Given the description of an element on the screen output the (x, y) to click on. 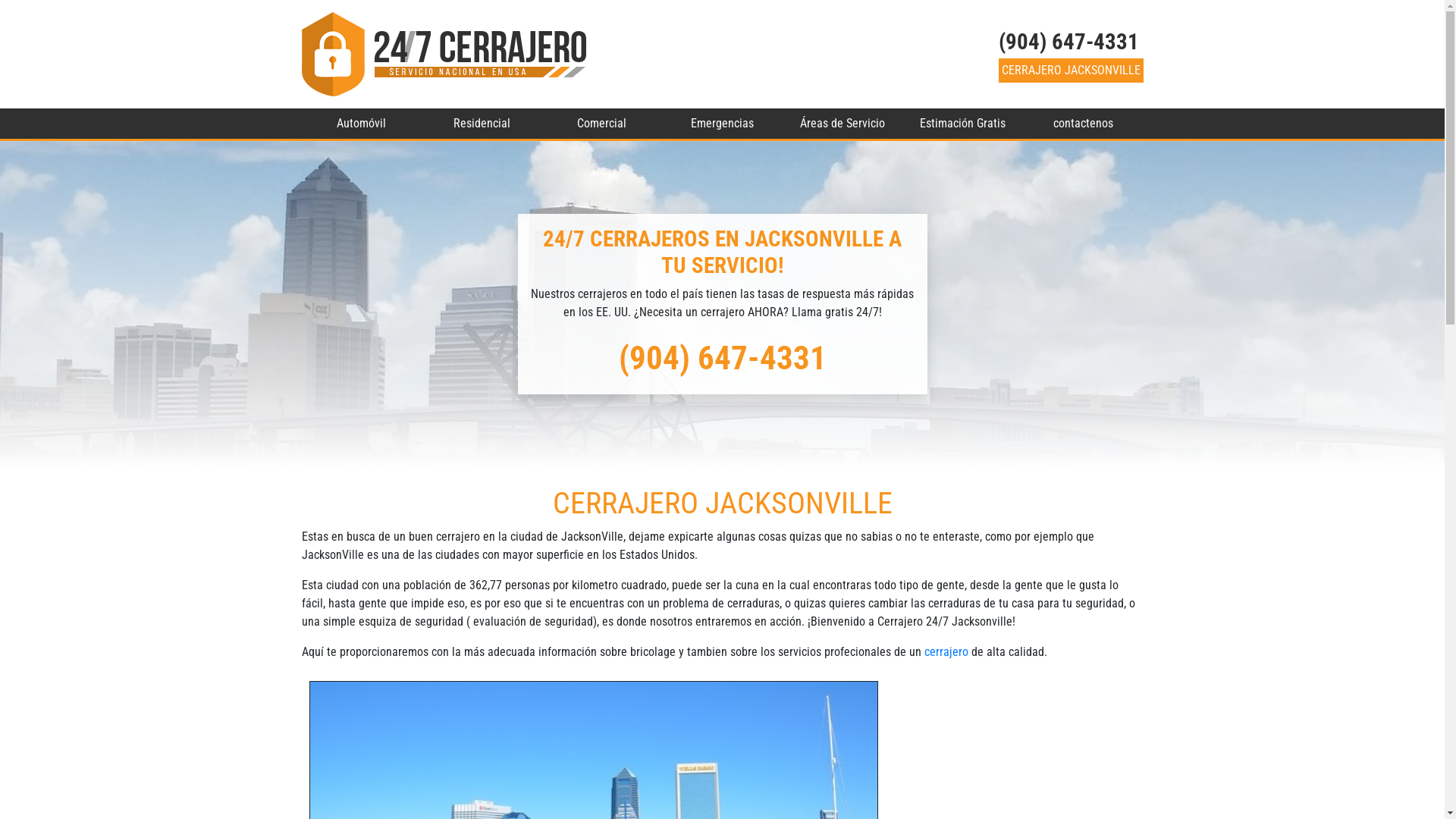
Residencial Element type: text (481, 123)
(904) 647-4331 Element type: text (1067, 41)
contactenos Element type: text (1082, 123)
(904) 647-4331 Element type: text (722, 357)
Comercial Element type: text (602, 123)
cerrajero Element type: text (946, 651)
Emergencias Element type: text (722, 123)
Home Element type: hover (443, 53)
Home Element type: hover (443, 54)
